Given the description of an element on the screen output the (x, y) to click on. 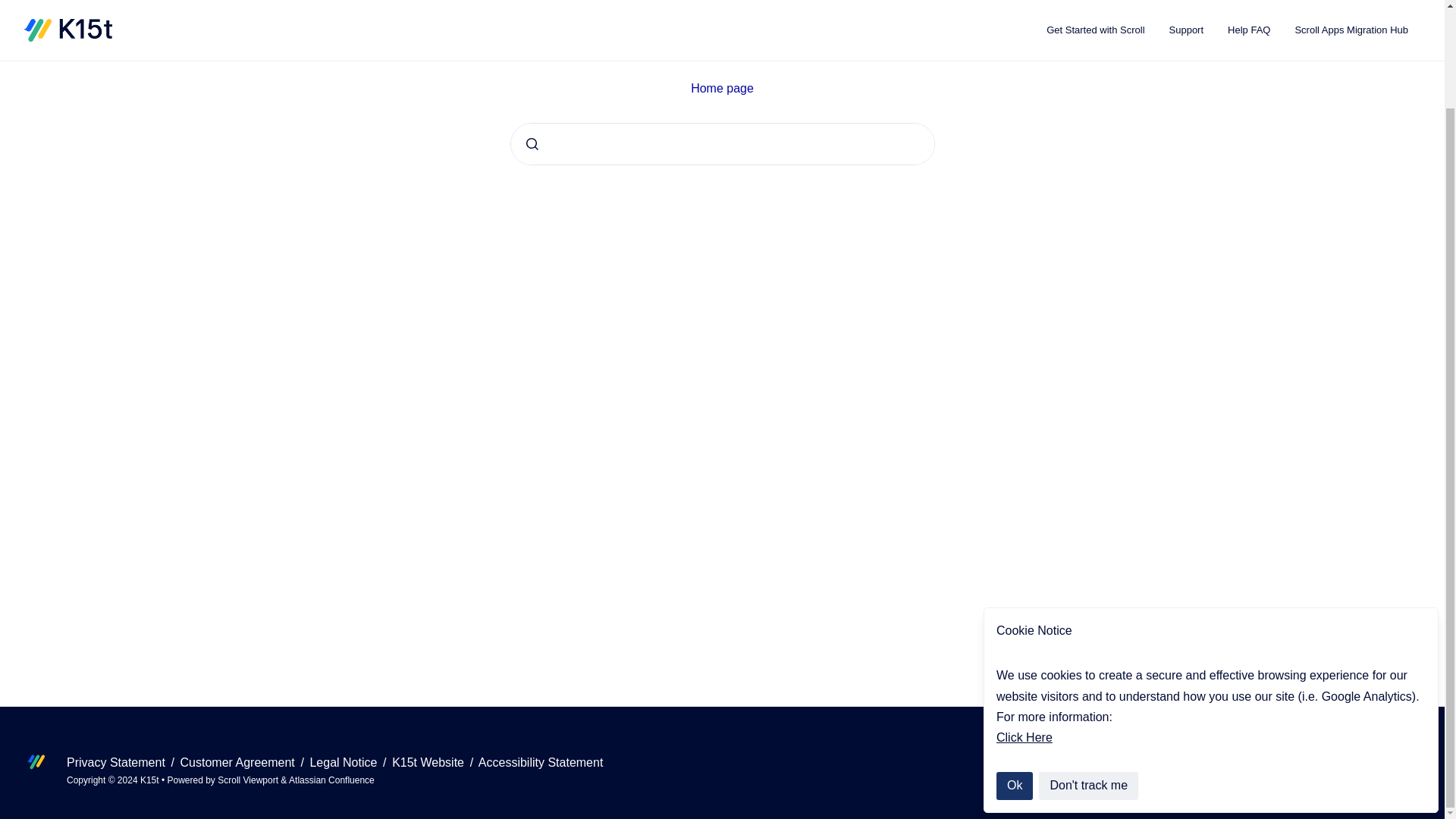
Legal Notice (344, 762)
Atlassian Confluence (331, 779)
Customer Agreement (239, 762)
K15t Website (429, 762)
Privacy Statement (117, 762)
Click Here (1023, 623)
Scroll Viewport (248, 779)
Accessibility Statement (541, 762)
Don't track me (1088, 672)
Ok (1013, 672)
Home page (722, 88)
